Given the description of an element on the screen output the (x, y) to click on. 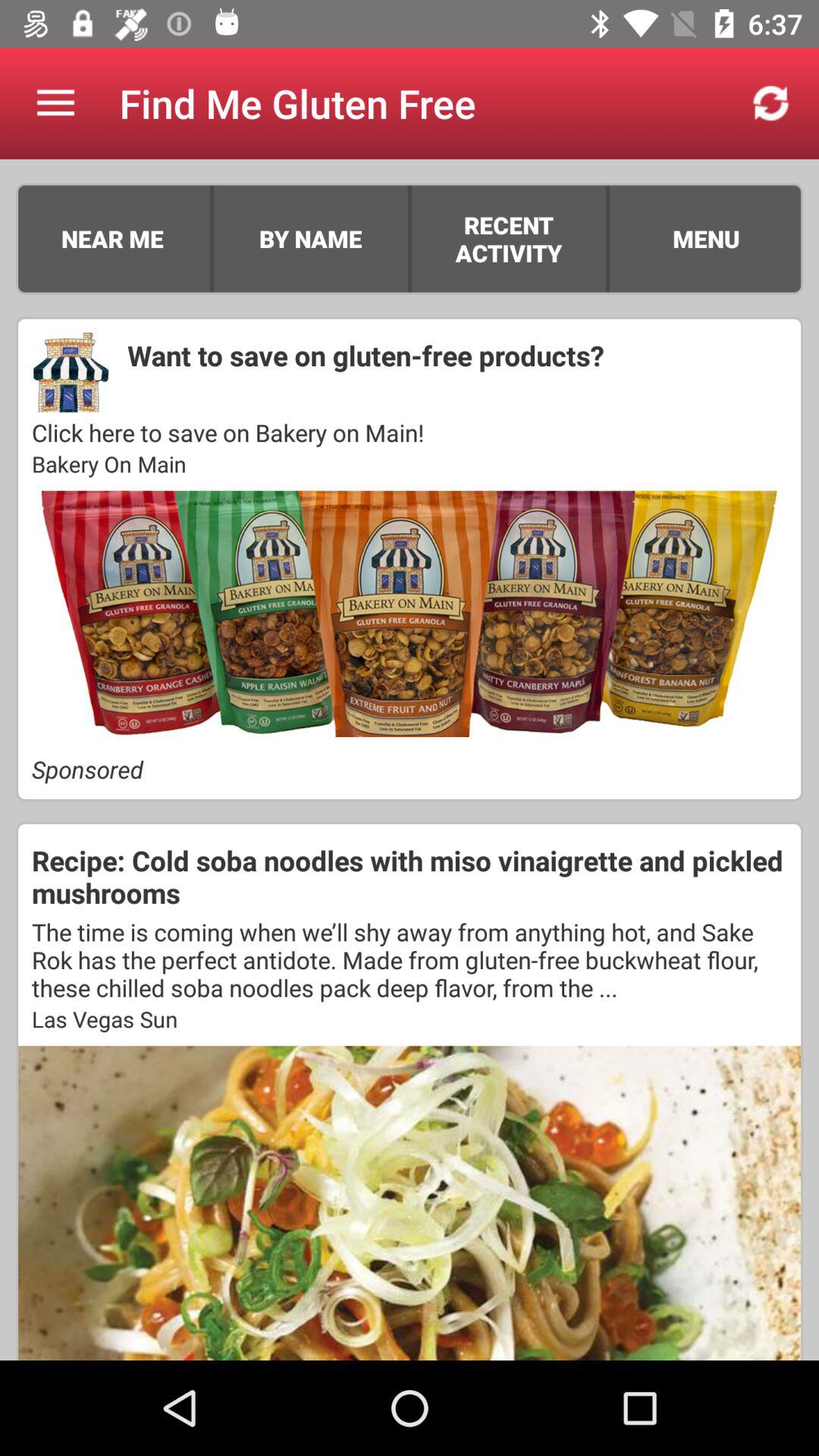
open the las vegas sun item (409, 1018)
